Given the description of an element on the screen output the (x, y) to click on. 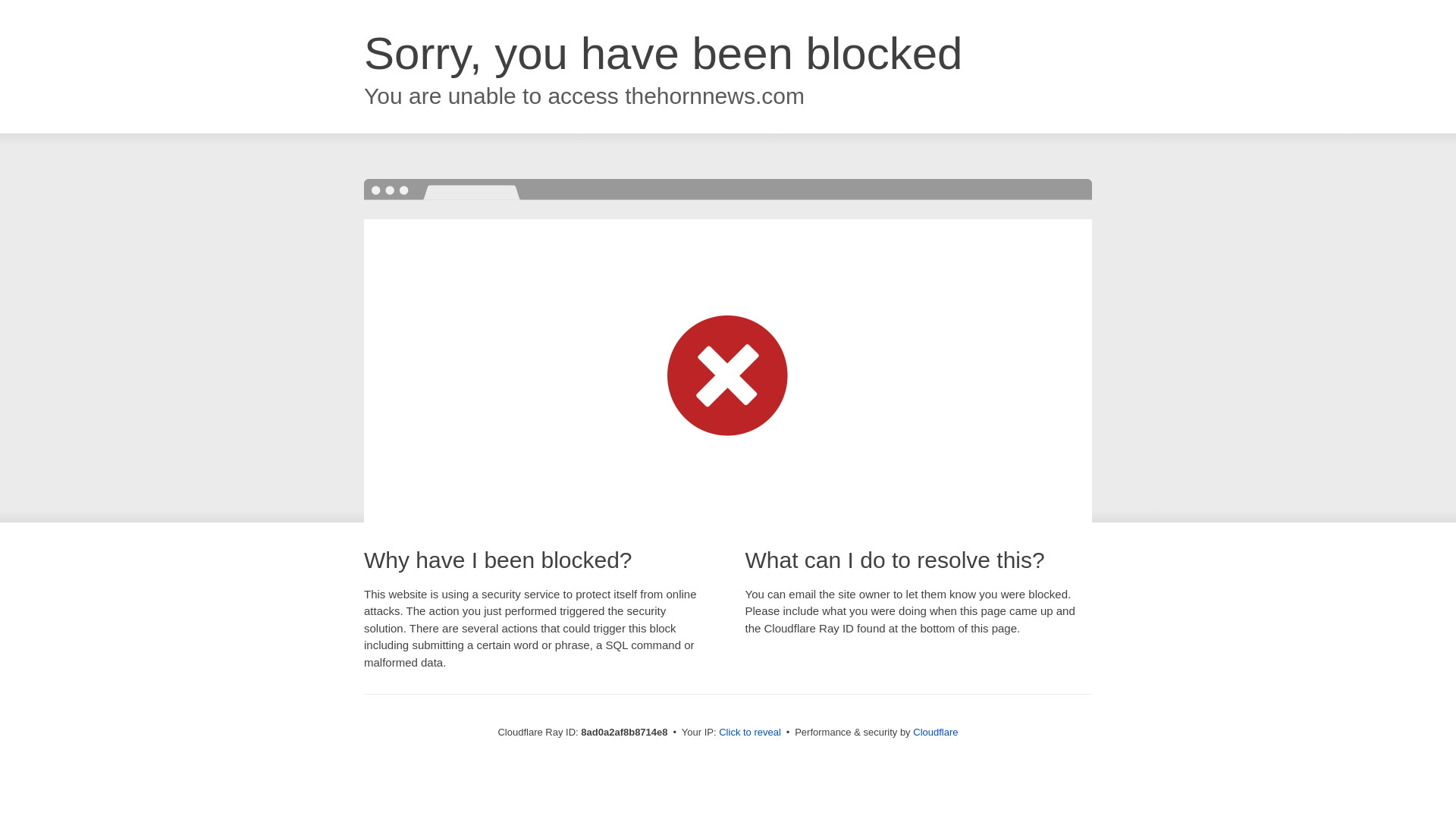
Click to reveal (749, 732)
Cloudflare (935, 731)
